Given the description of an element on the screen output the (x, y) to click on. 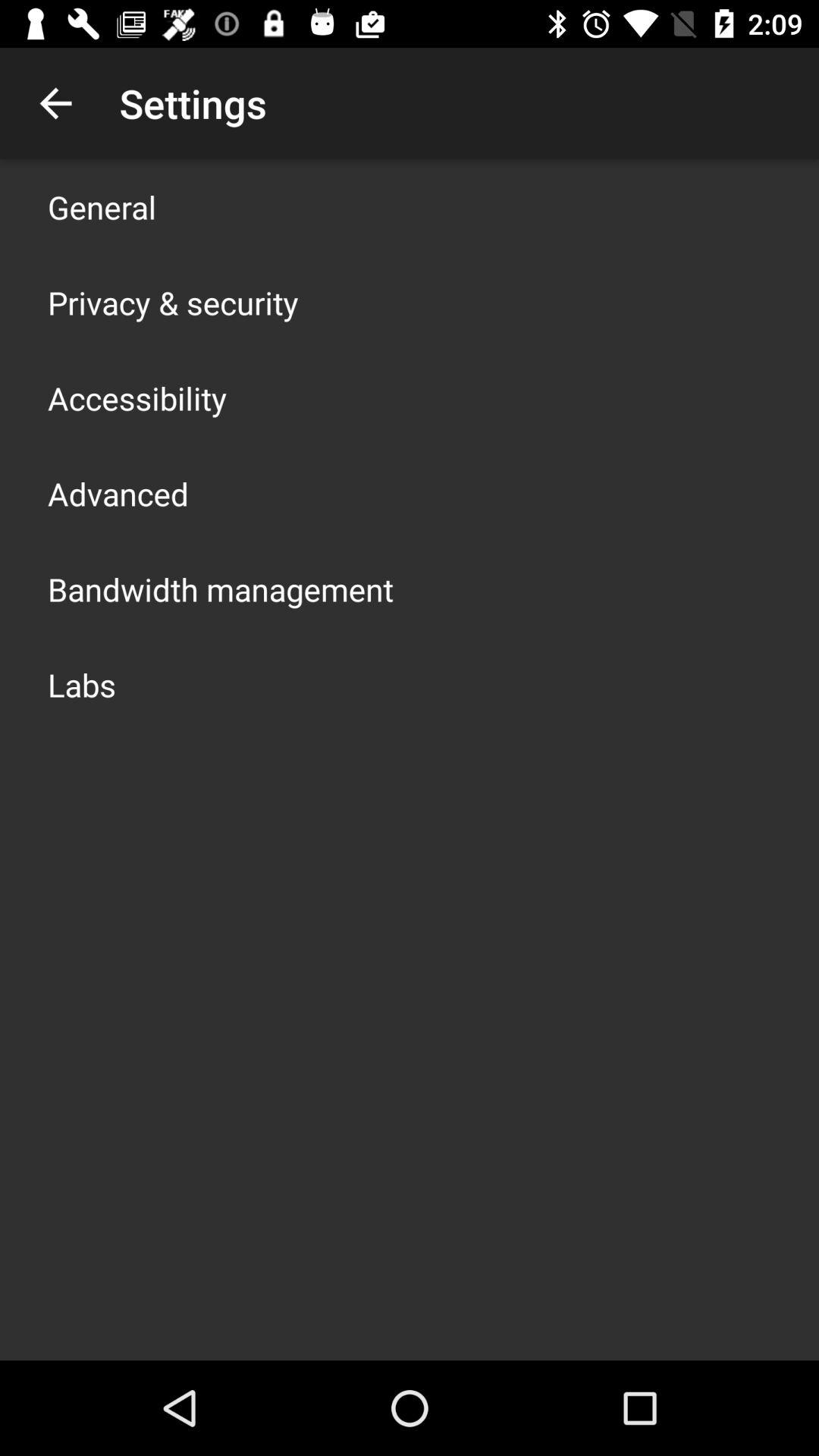
click icon to the left of settings item (55, 103)
